Given the description of an element on the screen output the (x, y) to click on. 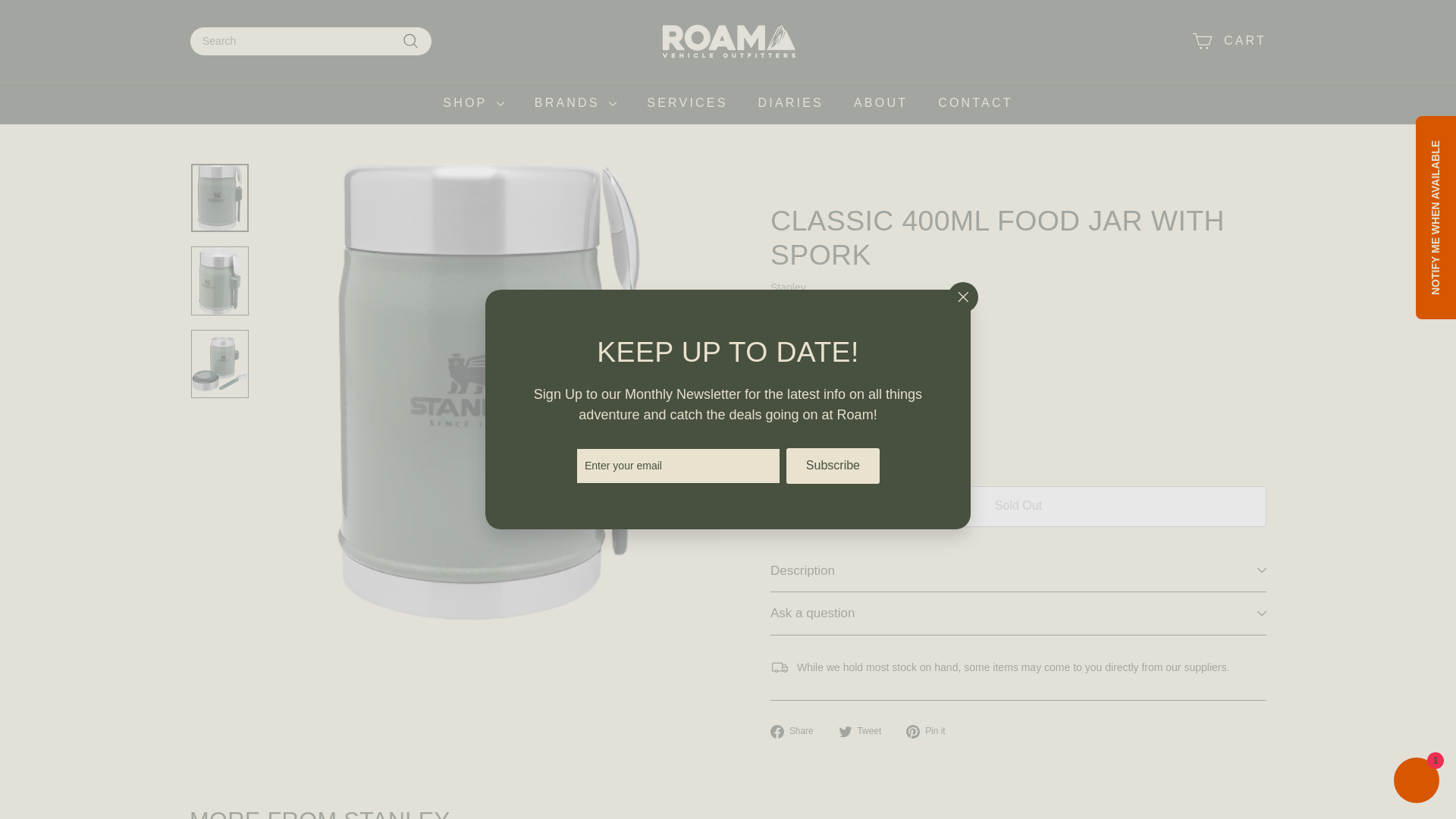
Stanley (396, 813)
Shopify online store chat (1416, 781)
Share on Facebook (797, 731)
Pin on Pinterest (930, 731)
Tweet on Twitter (865, 731)
twitter (844, 731)
CART (1228, 40)
1 (797, 355)
